Given the description of an element on the screen output the (x, y) to click on. 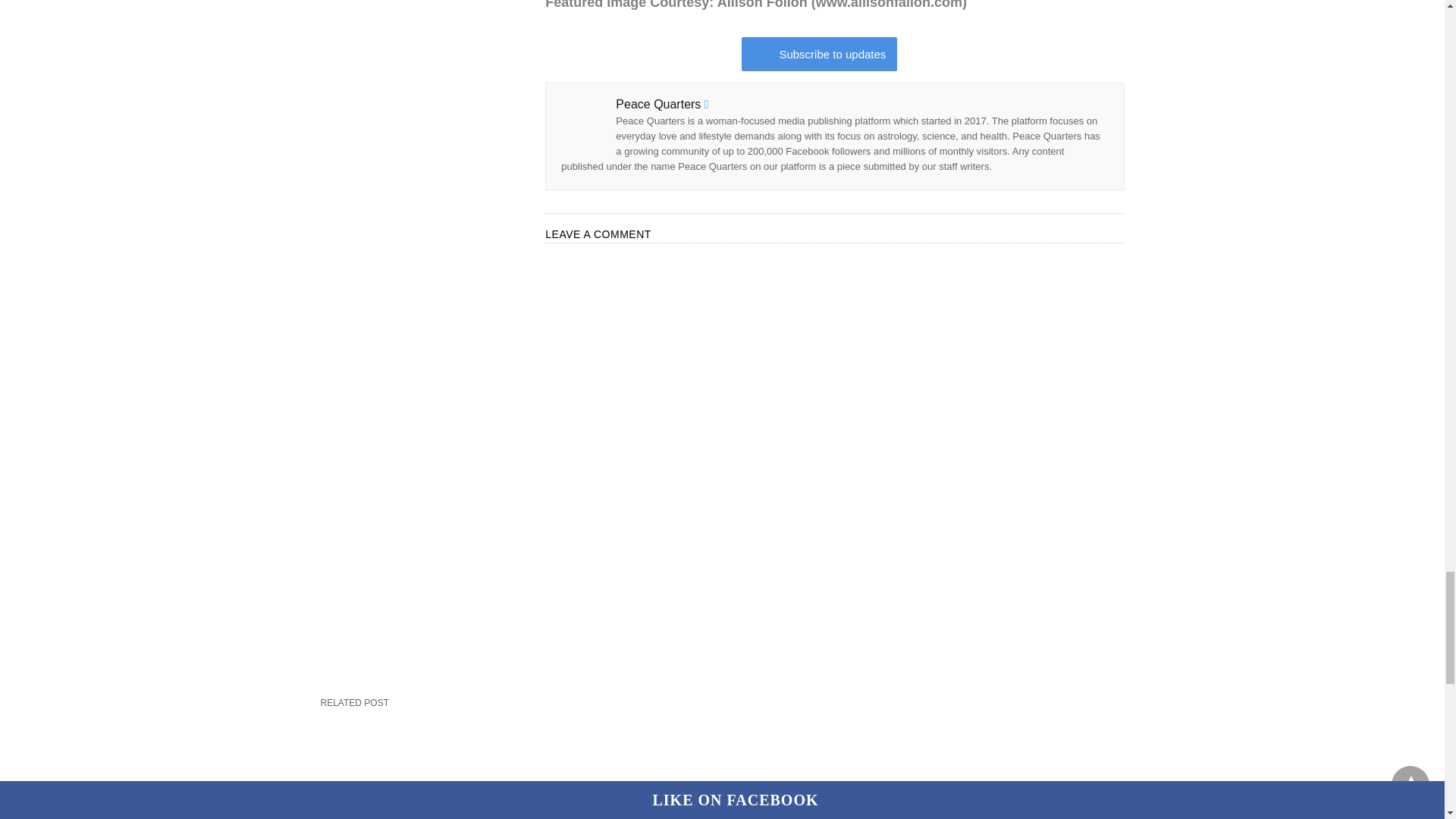
Books you should Read to Expand your Mind (721, 767)
Why is it Important to be Kind? (997, 767)
Best Known Ways To Meditate For A Healthy Mind (446, 767)
